Given the description of an element on the screen output the (x, y) to click on. 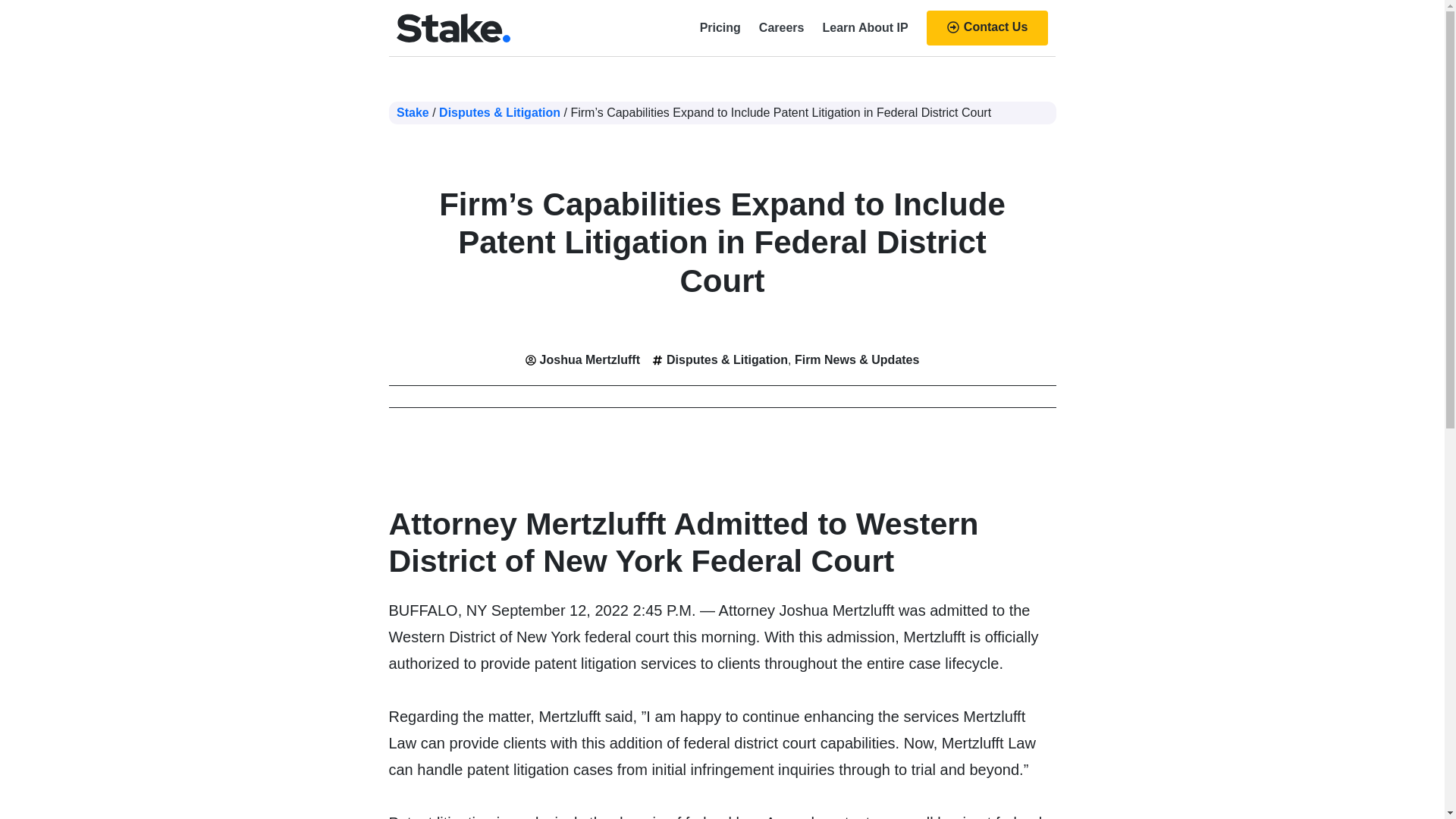
Learn About IP (864, 27)
Joshua Mertzlufft (582, 359)
Stake (412, 112)
Contact Us (987, 27)
Stake (412, 112)
Careers (781, 27)
Pricing (720, 27)
